Given the description of an element on the screen output the (x, y) to click on. 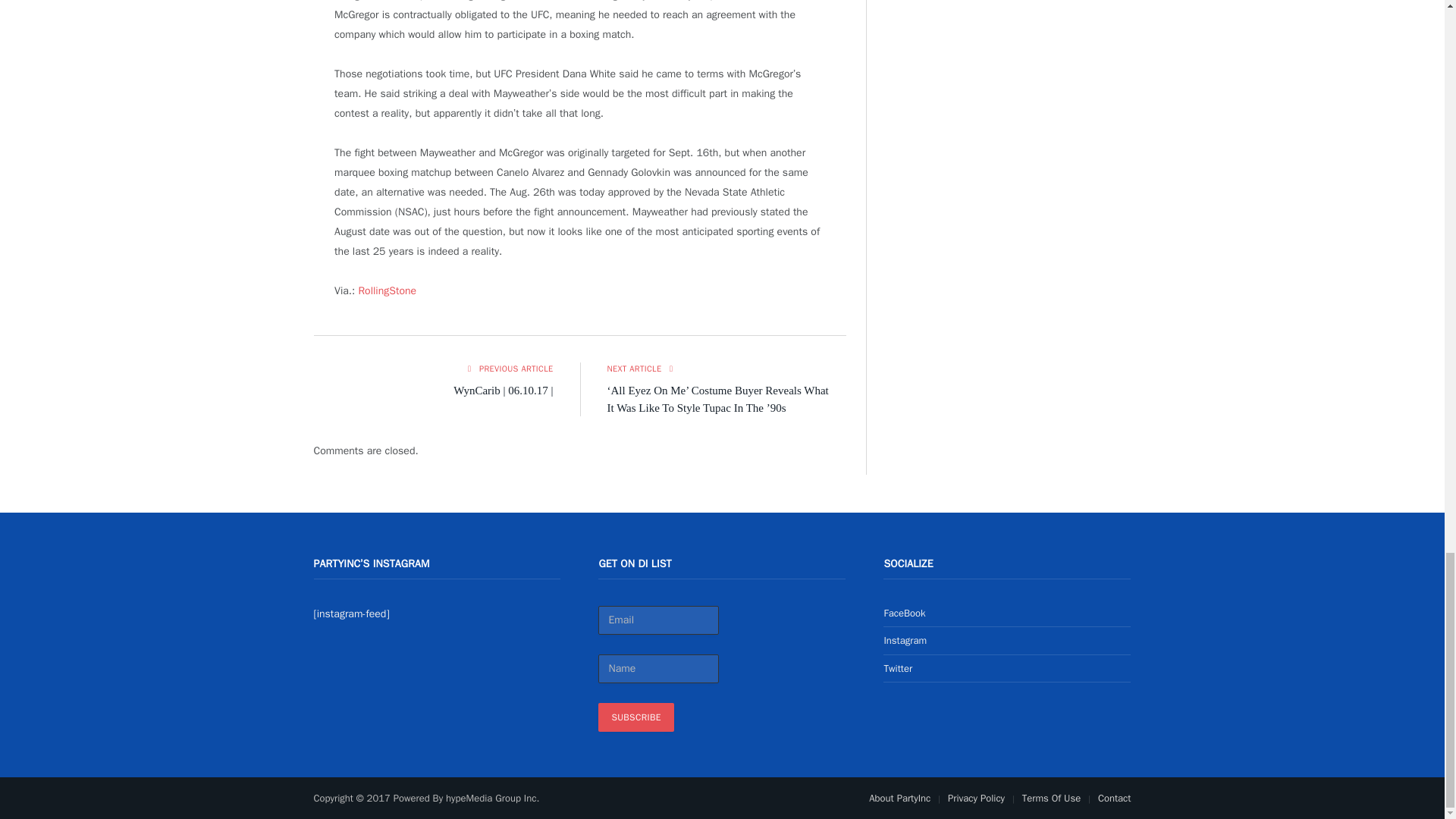
Name (658, 668)
Contact (1114, 797)
RollingStone (387, 290)
FaceBook (903, 612)
Subscribe (635, 717)
Terms Of Use (1051, 797)
Email (658, 620)
About PartyInc (899, 797)
Twitter (897, 667)
Subscribe (635, 717)
Privacy Policy (975, 797)
Instagram (904, 640)
